Given the description of an element on the screen output the (x, y) to click on. 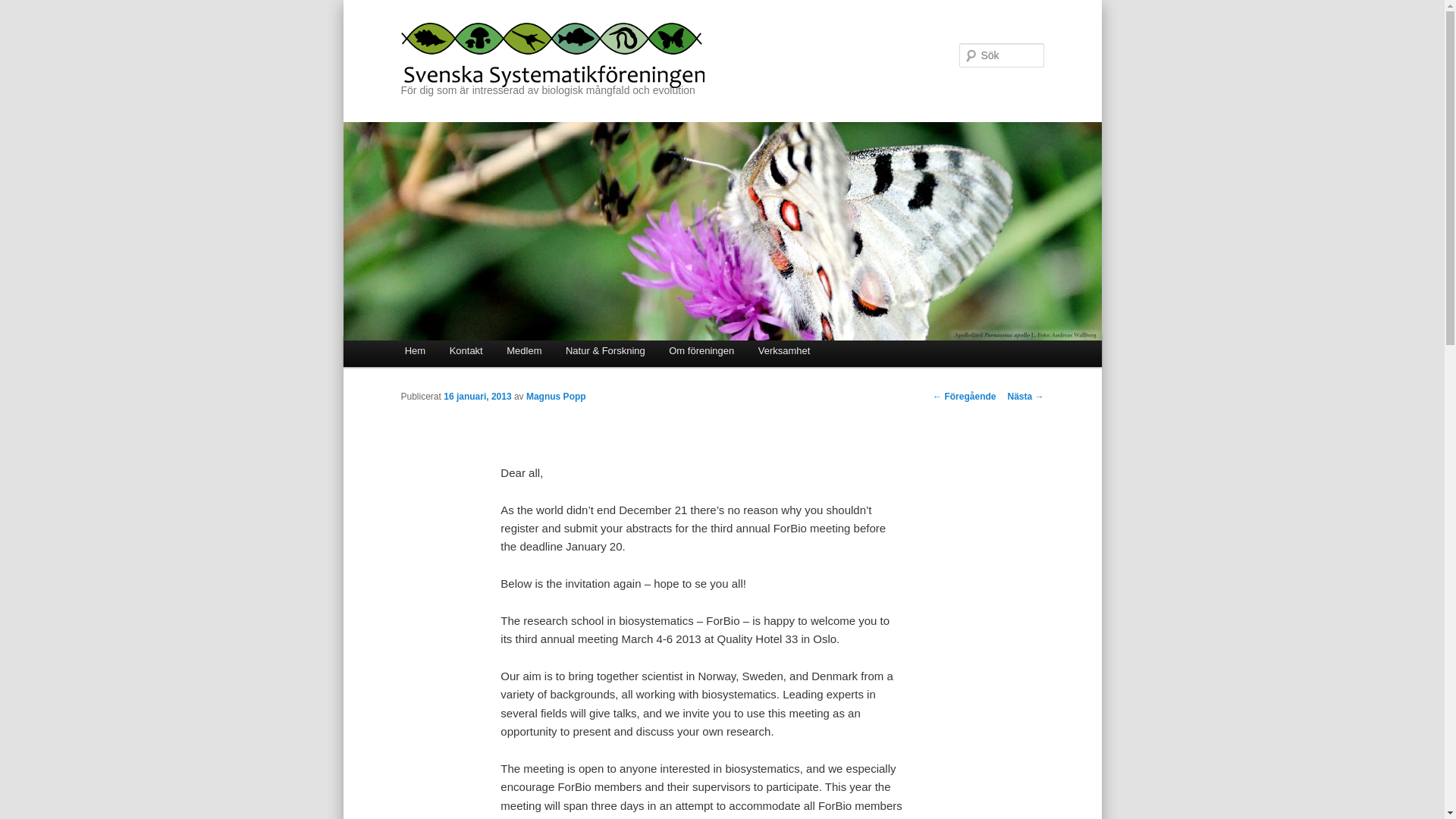
16 januari, 2013 (477, 396)
Medlem (524, 350)
Magnus Popp (555, 396)
Hem (415, 350)
Kontakt (466, 350)
15:16 (477, 396)
Verksamhet (783, 350)
